Given the description of an element on the screen output the (x, y) to click on. 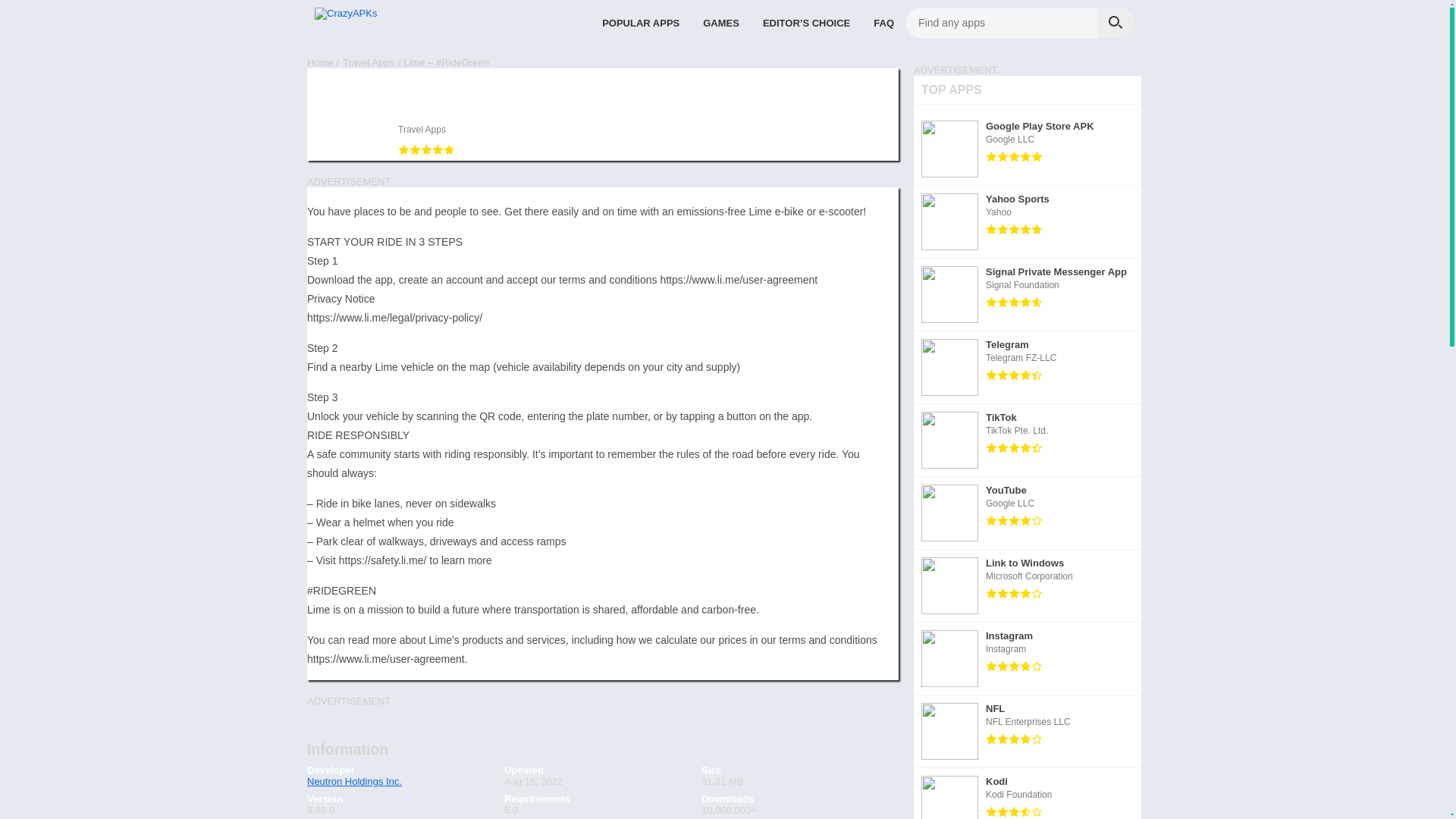
POPULAR APPS (640, 22)
CrazyAPKs (320, 61)
Home (320, 61)
FAQ (883, 22)
GAMES (721, 22)
Travel Apps (421, 129)
Travel Apps (368, 61)
Neutron Holdings Inc. (354, 781)
